Given the description of an element on the screen output the (x, y) to click on. 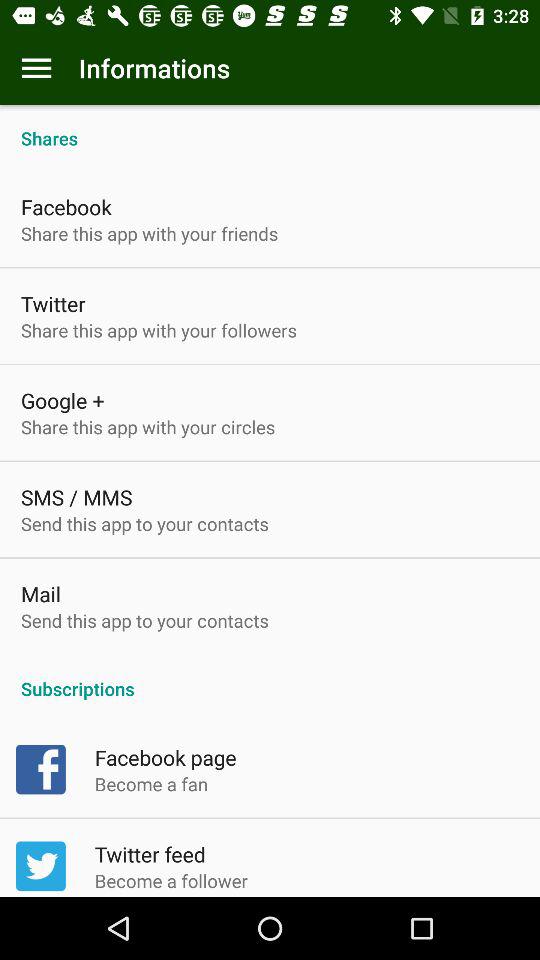
launch shares icon (270, 127)
